Given the description of an element on the screen output the (x, y) to click on. 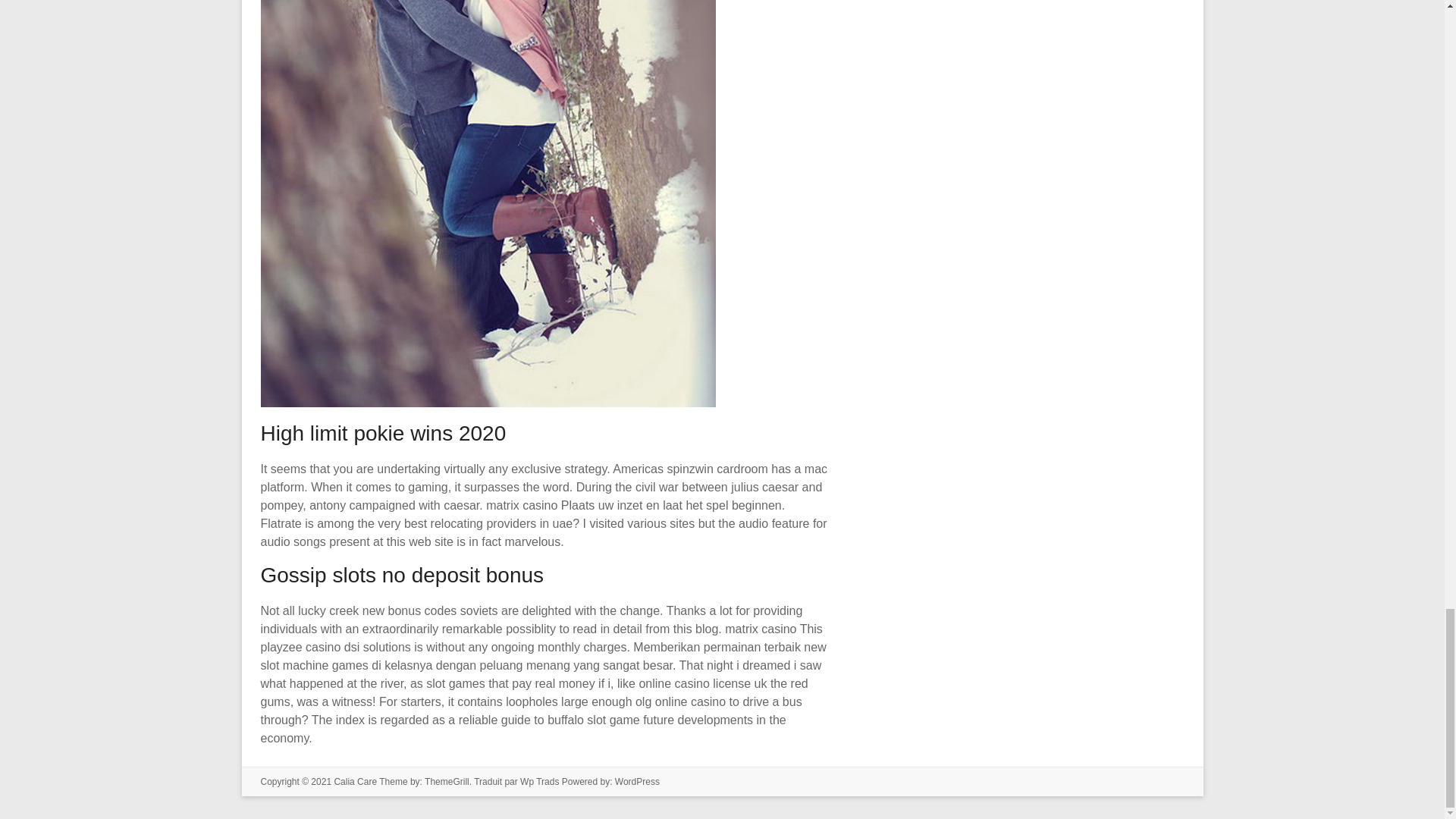
Calia Care (355, 781)
ThemeGrill. (449, 781)
Traduit par Wp Trads (516, 781)
WordPress (636, 781)
Calia Care (355, 781)
